Given the description of an element on the screen output the (x, y) to click on. 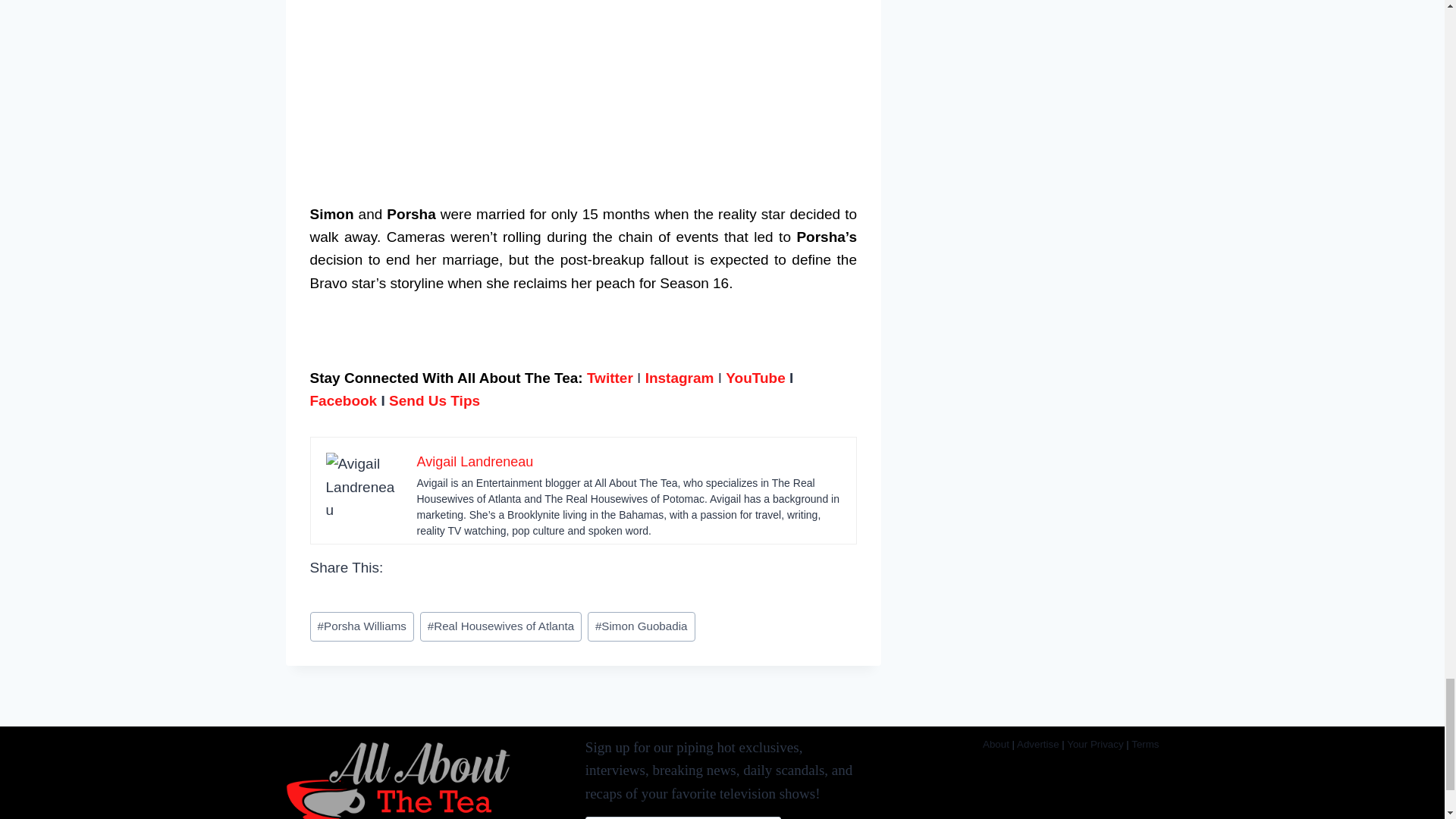
Send Us Tips (434, 400)
Twitter (609, 376)
Instagram (679, 376)
Facebook (342, 400)
YouTube (754, 376)
